Given the description of an element on the screen output the (x, y) to click on. 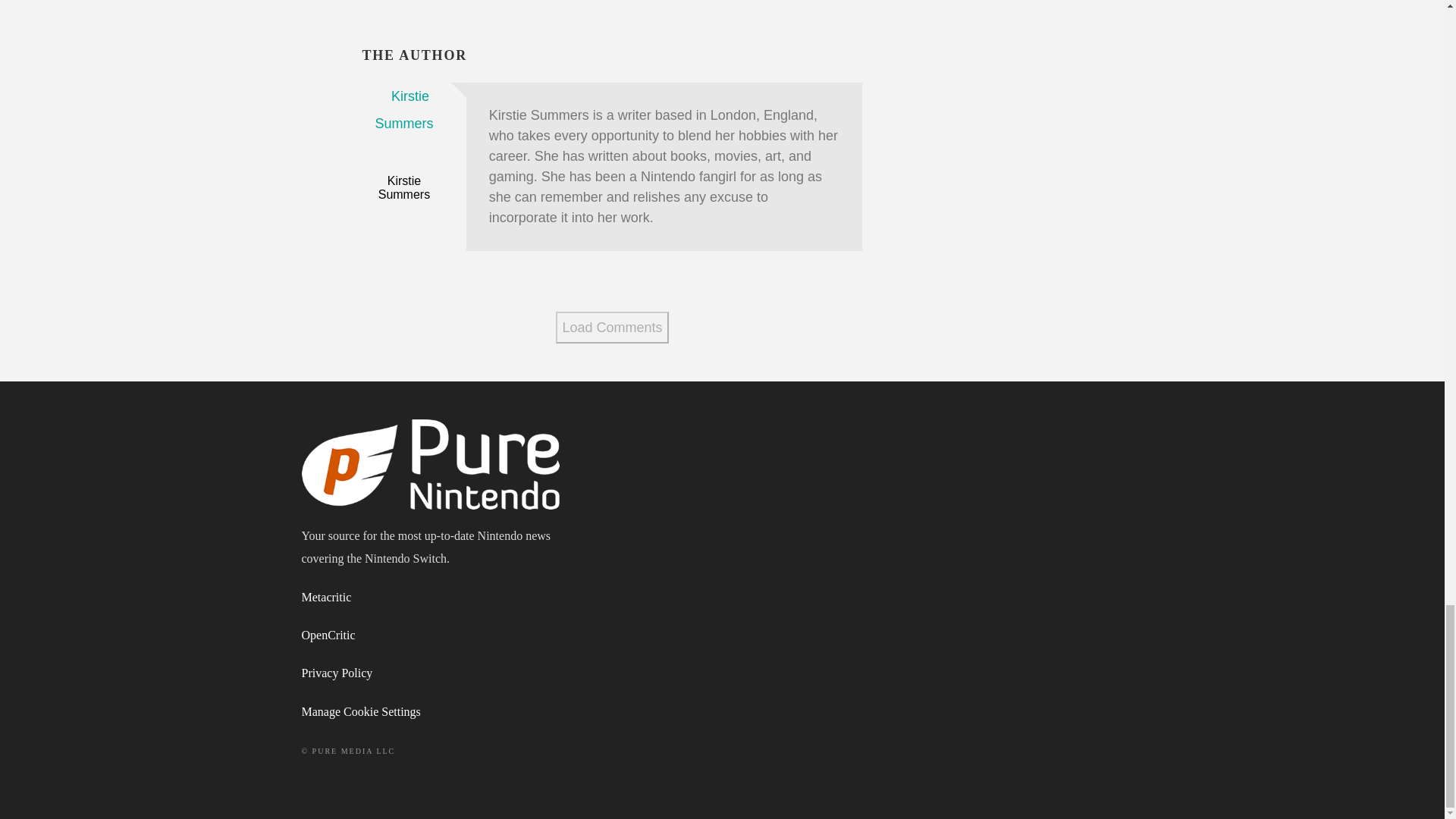
Posts by Kirstie Summers (403, 187)
